Given the description of an element on the screen output the (x, y) to click on. 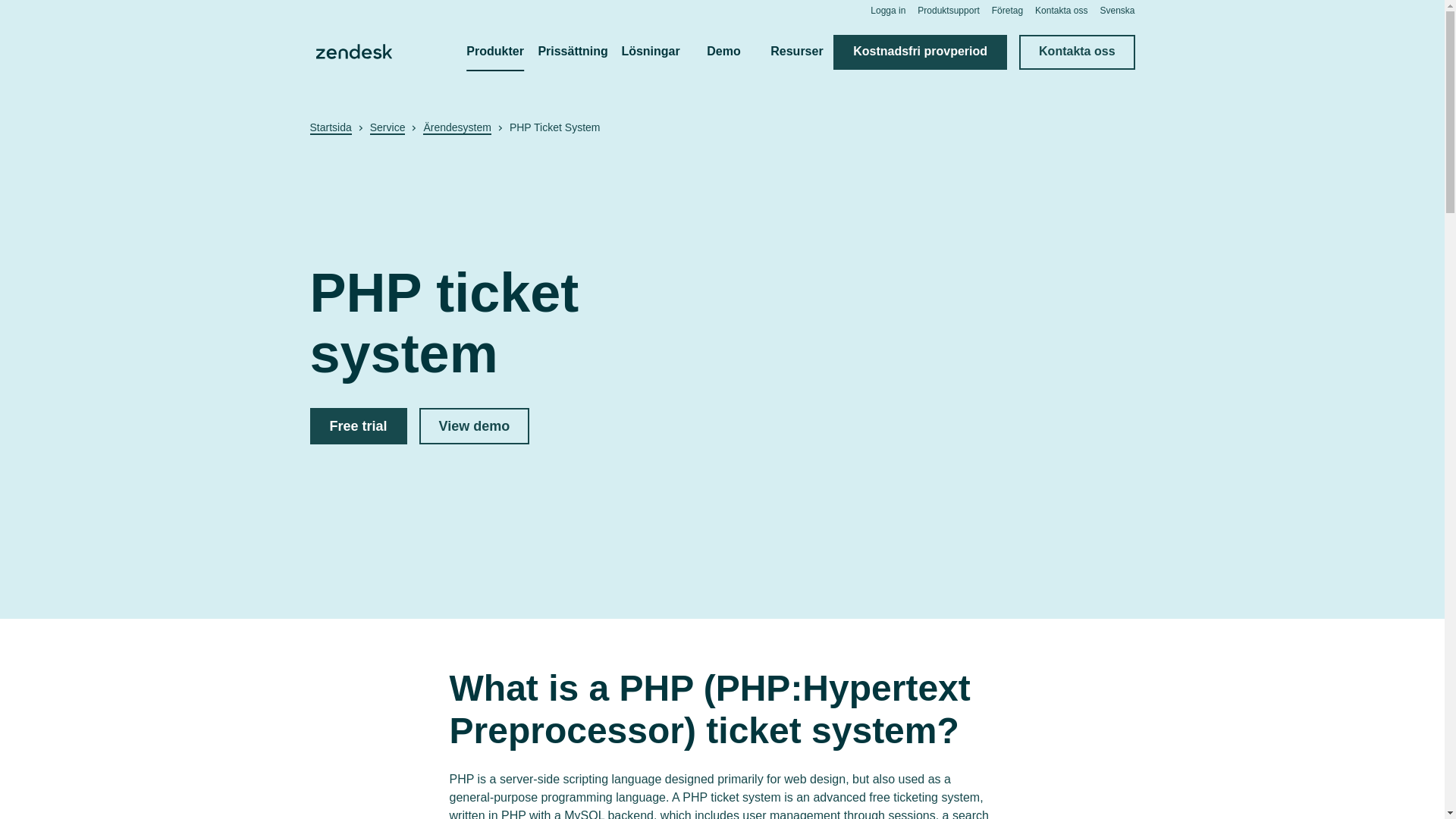
Logga in (887, 9)
Kontakta oss (1061, 9)
Svenska (1116, 9)
Produktsupport (947, 9)
